Given the description of an element on the screen output the (x, y) to click on. 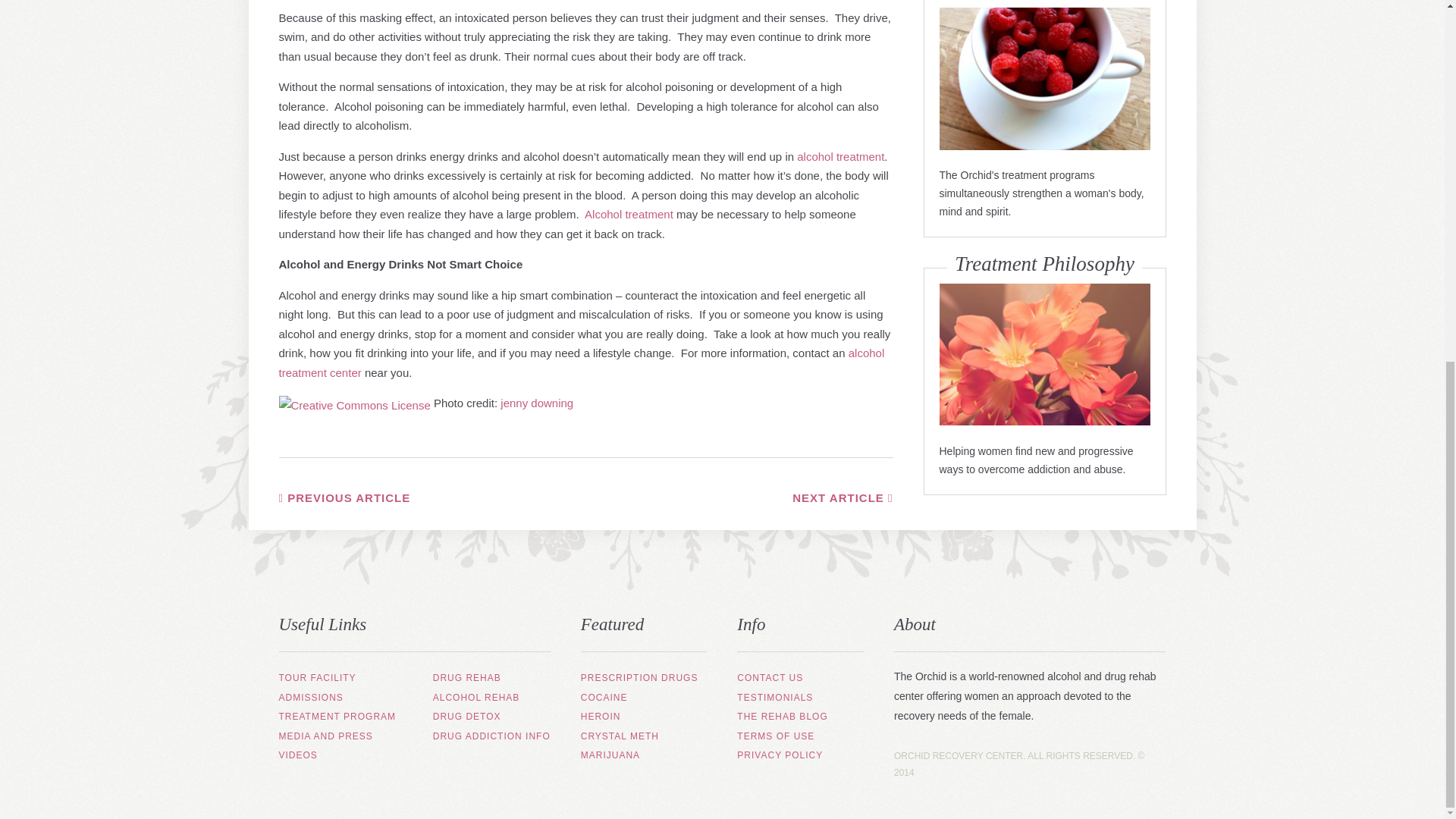
alcohol treatment (839, 155)
jenny downing (536, 402)
PREVIOUS ARTICLE (344, 497)
NEXT ARTICLE (842, 497)
jenny downing (536, 402)
alcohol treatment center (582, 362)
Alcohol treatment (628, 214)
Attribution License (354, 402)
